Given the description of an element on the screen output the (x, y) to click on. 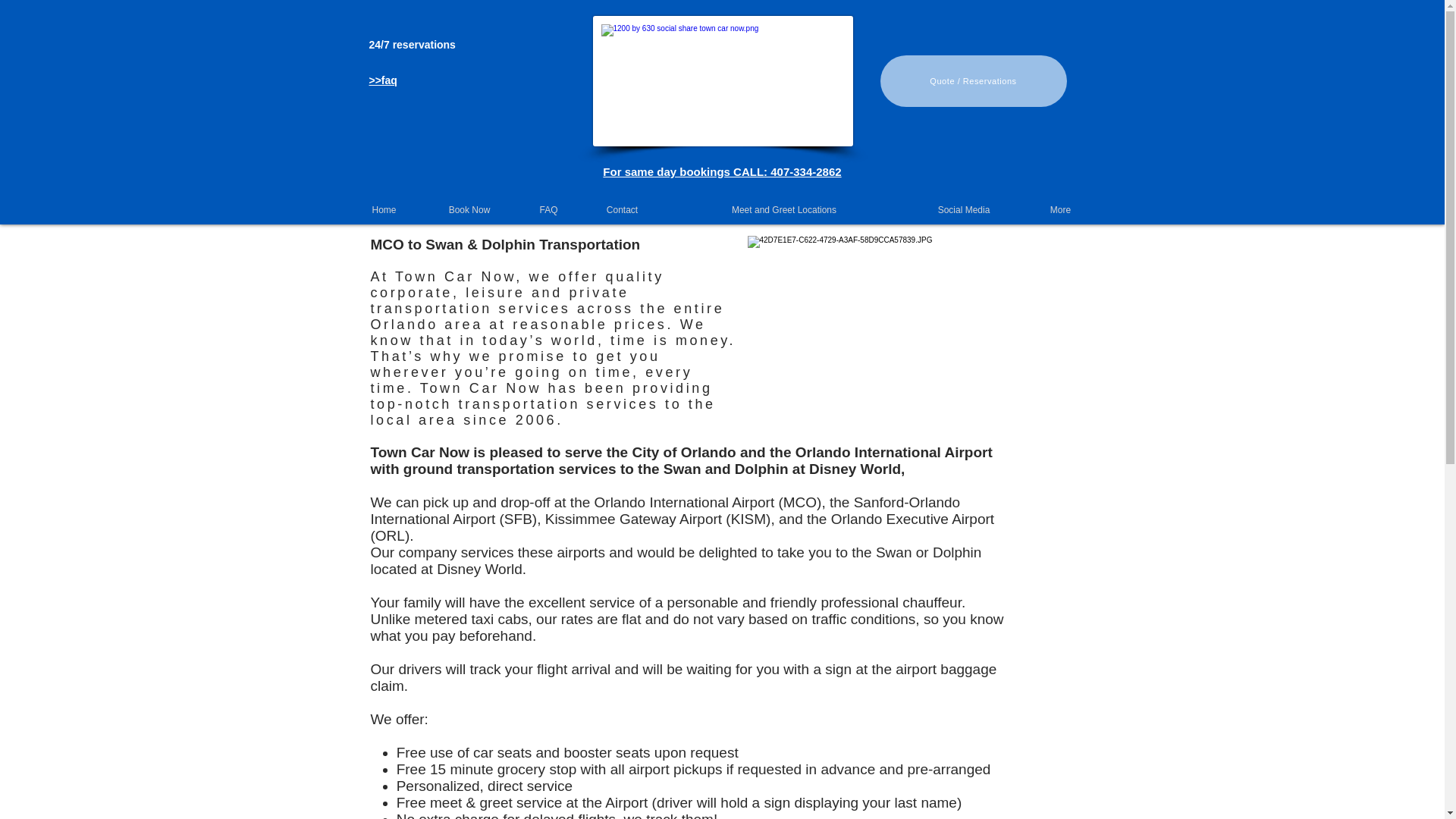
Home (383, 210)
Meet and Greet Locations (783, 210)
Social Media (963, 210)
Book Now (469, 210)
Contact (622, 210)
FAQ (548, 210)
For same day bookings CALL: 407-334-2862 (721, 171)
town-car-now-orlando-limo-service.jpg (722, 80)
